Given the description of an element on the screen output the (x, y) to click on. 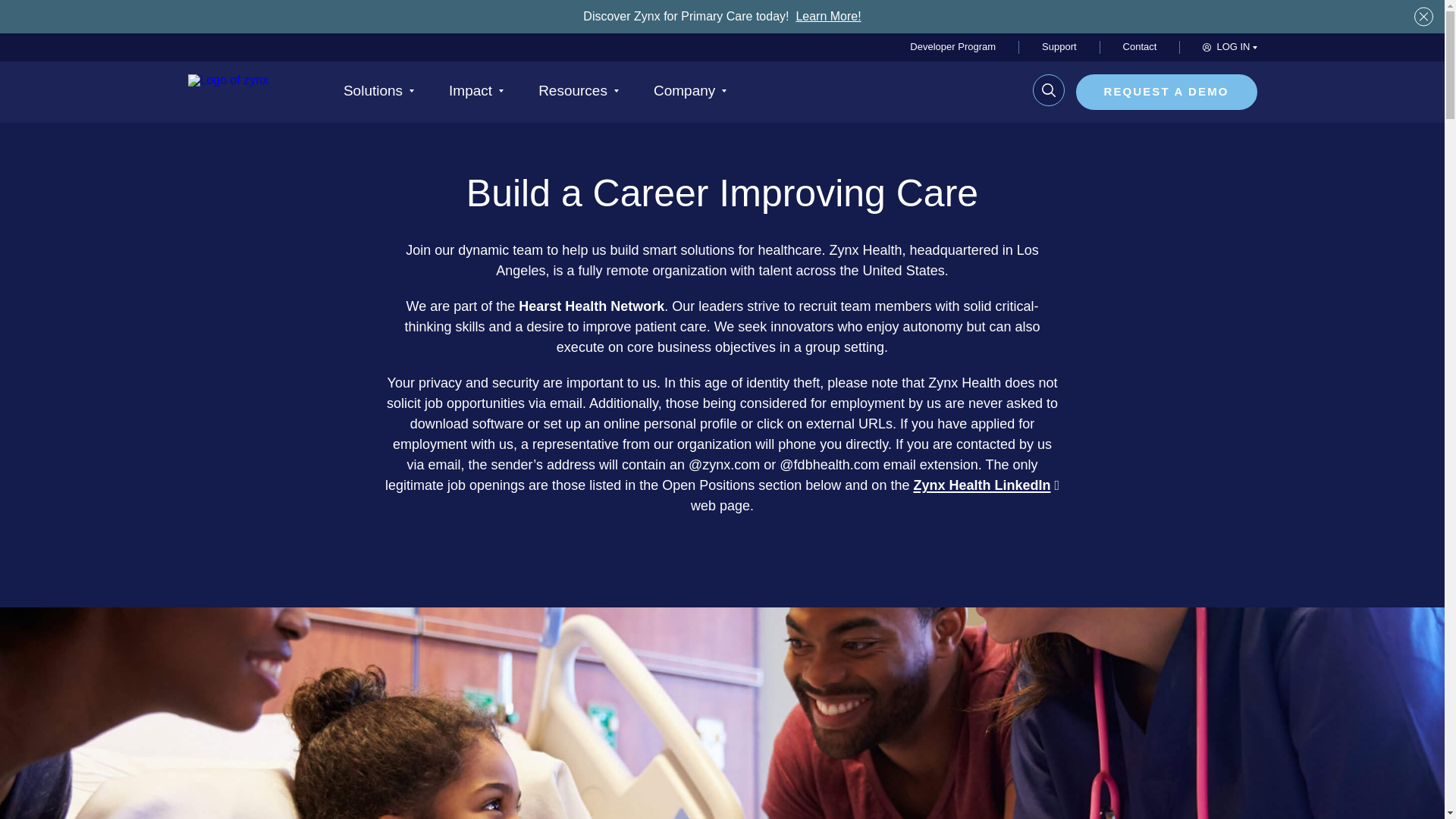
Solutions (378, 97)
Contact (1139, 47)
Resources (578, 97)
Company (689, 97)
Support (1059, 47)
Learn More! (827, 15)
LOG IN (1229, 47)
Developer Program (952, 47)
Close (1422, 16)
Impact (475, 97)
